Given the description of an element on the screen output the (x, y) to click on. 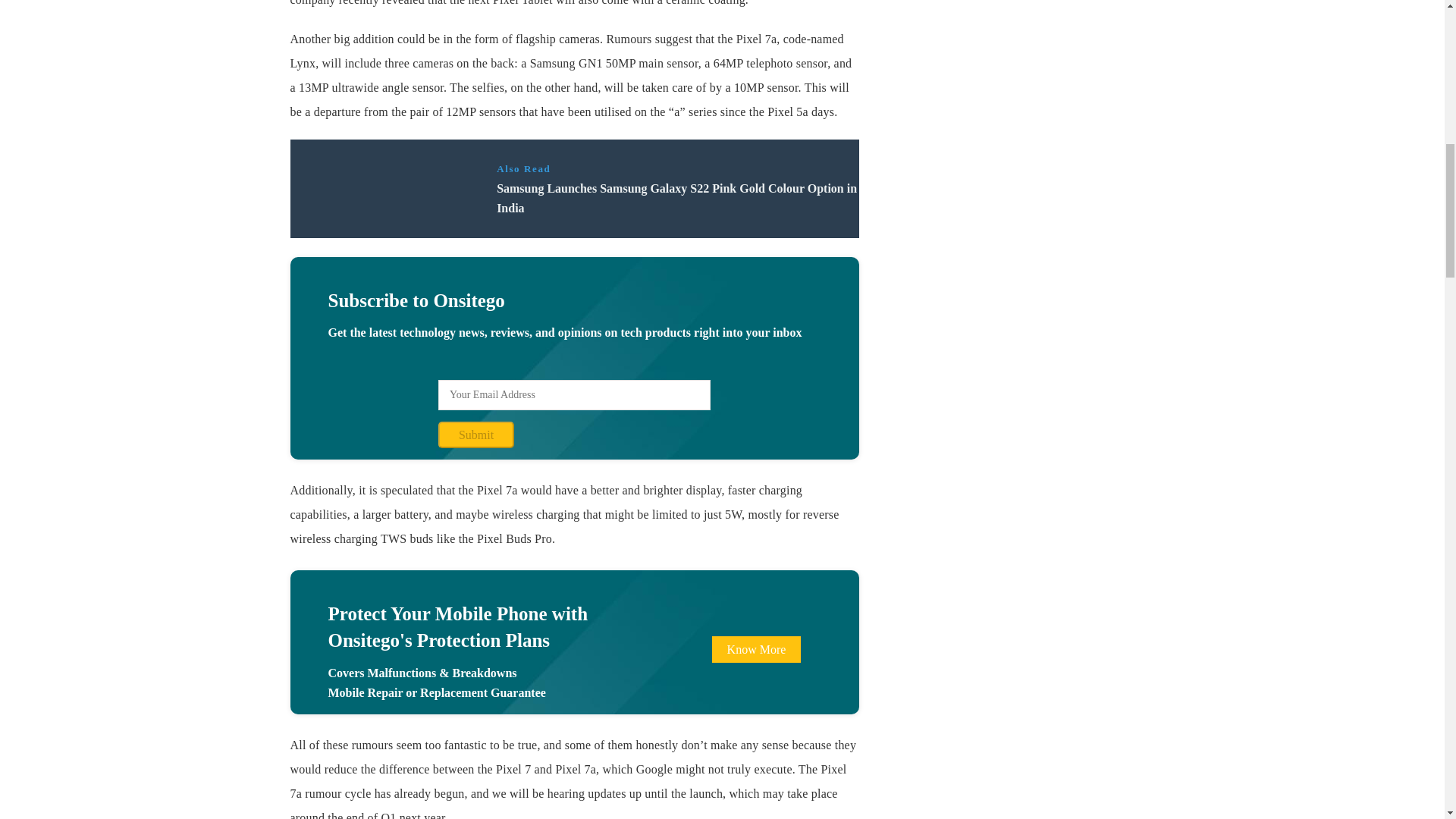
Submit (475, 434)
Submit (475, 434)
Know More (756, 649)
